Given the description of an element on the screen output the (x, y) to click on. 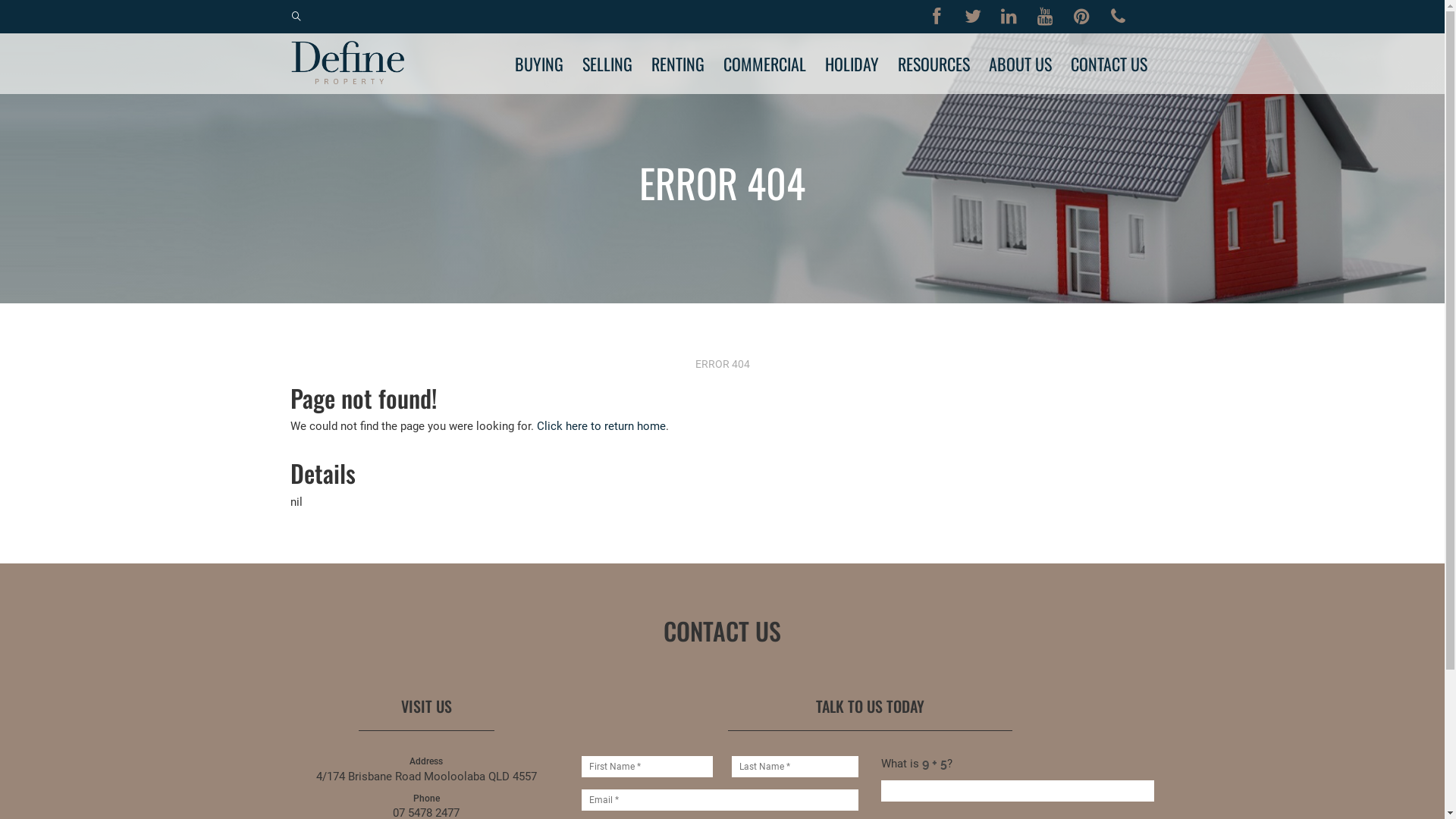
HOLIDAY Element type: text (851, 63)
SELLING Element type: text (607, 63)
RENTING Element type: text (677, 63)
COMMERCIAL Element type: text (764, 63)
Click here to return home Element type: text (600, 426)
ABOUT US Element type: text (1020, 63)
RESOURCES Element type: text (933, 63)
BUYING Element type: text (538, 63)
CONTACT US Element type: text (1108, 63)
